Given the description of an element on the screen output the (x, y) to click on. 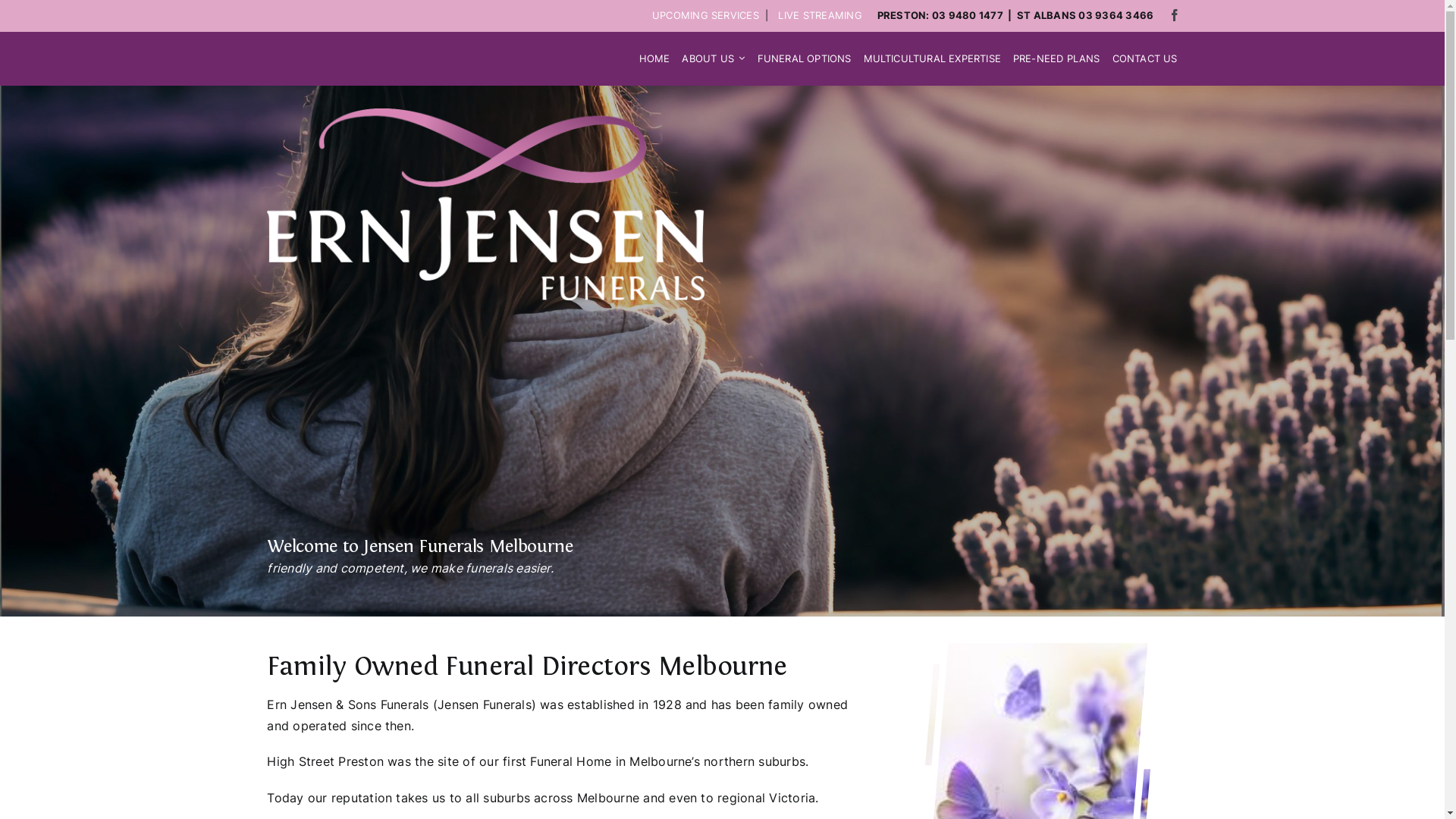
ABOUT US Element type: text (712, 58)
HOME Element type: text (654, 58)
MULTICULTURAL EXPERTISE Element type: text (931, 58)
UPCOMING SERVICES Element type: text (705, 15)
CONTACT US Element type: text (1144, 58)
FUNERAL OPTIONS Element type: text (804, 58)
PRE-NEED PLANS Element type: text (1056, 58)
Jensen_logo_3_col_transparent_title Element type: hover (484, 204)
LIVE STREAMING Element type: text (819, 15)
